Given the description of an element on the screen output the (x, y) to click on. 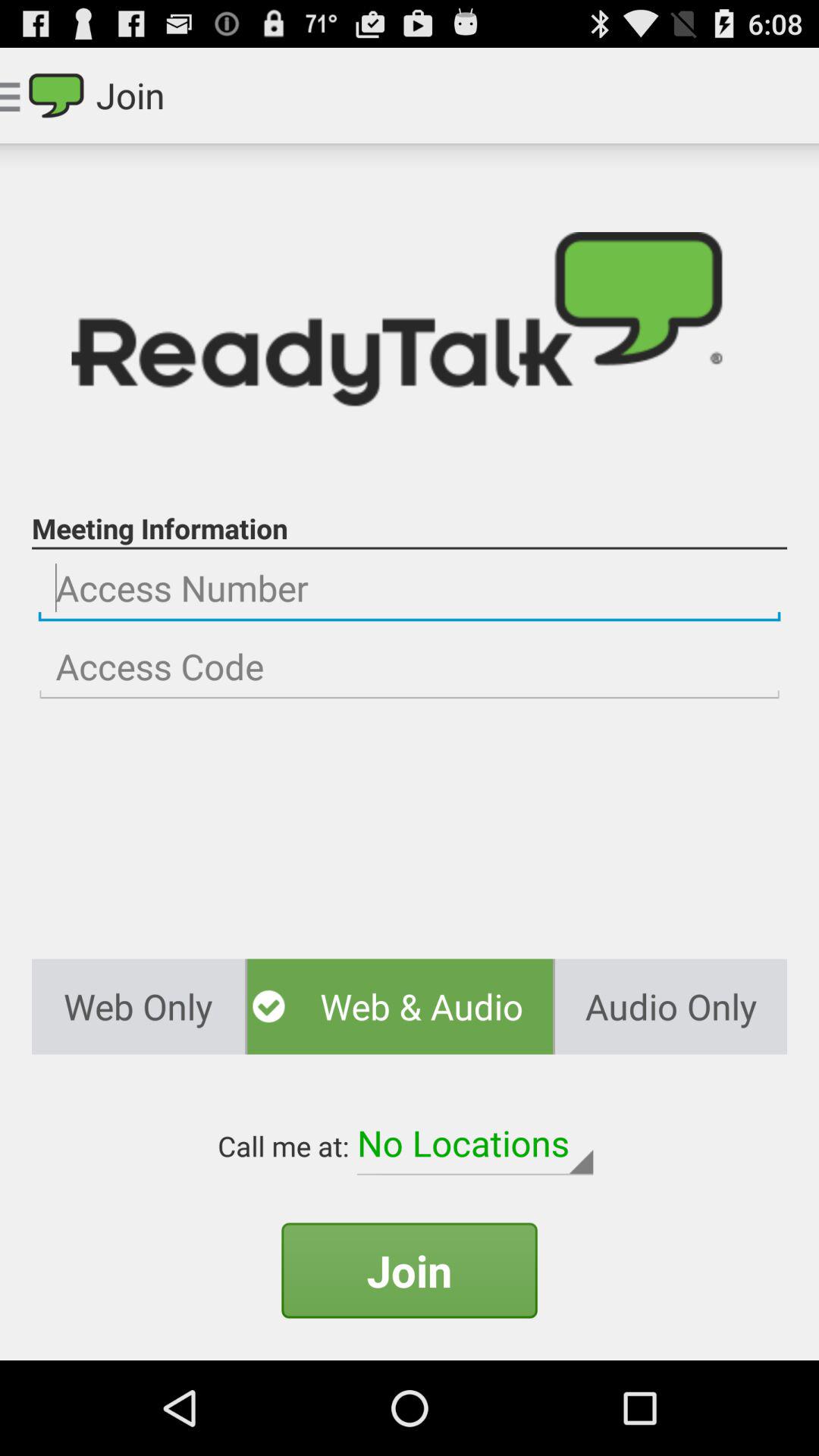
text field (409, 588)
